Given the description of an element on the screen output the (x, y) to click on. 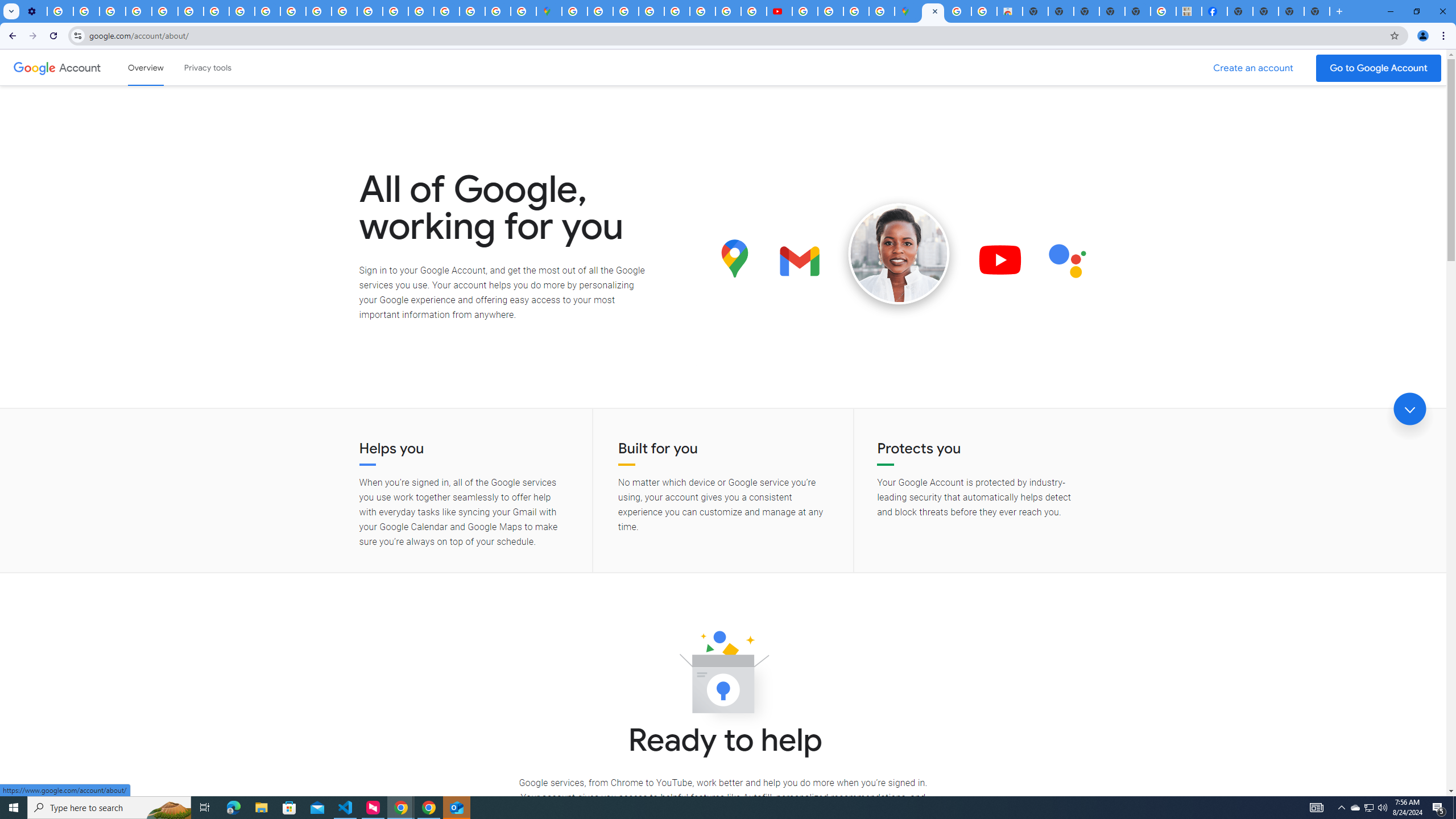
Ready to help (722, 675)
Address and search bar (735, 35)
Go to your Google Account (1378, 67)
Google Account Help (138, 11)
Minimize (1390, 11)
Miley Cyrus | Facebook (1213, 11)
Subscriptions - YouTube (779, 11)
View site information (77, 35)
Terms and Conditions (676, 11)
Back (10, 35)
Sign in - Google Accounts (600, 11)
